Given the description of an element on the screen output the (x, y) to click on. 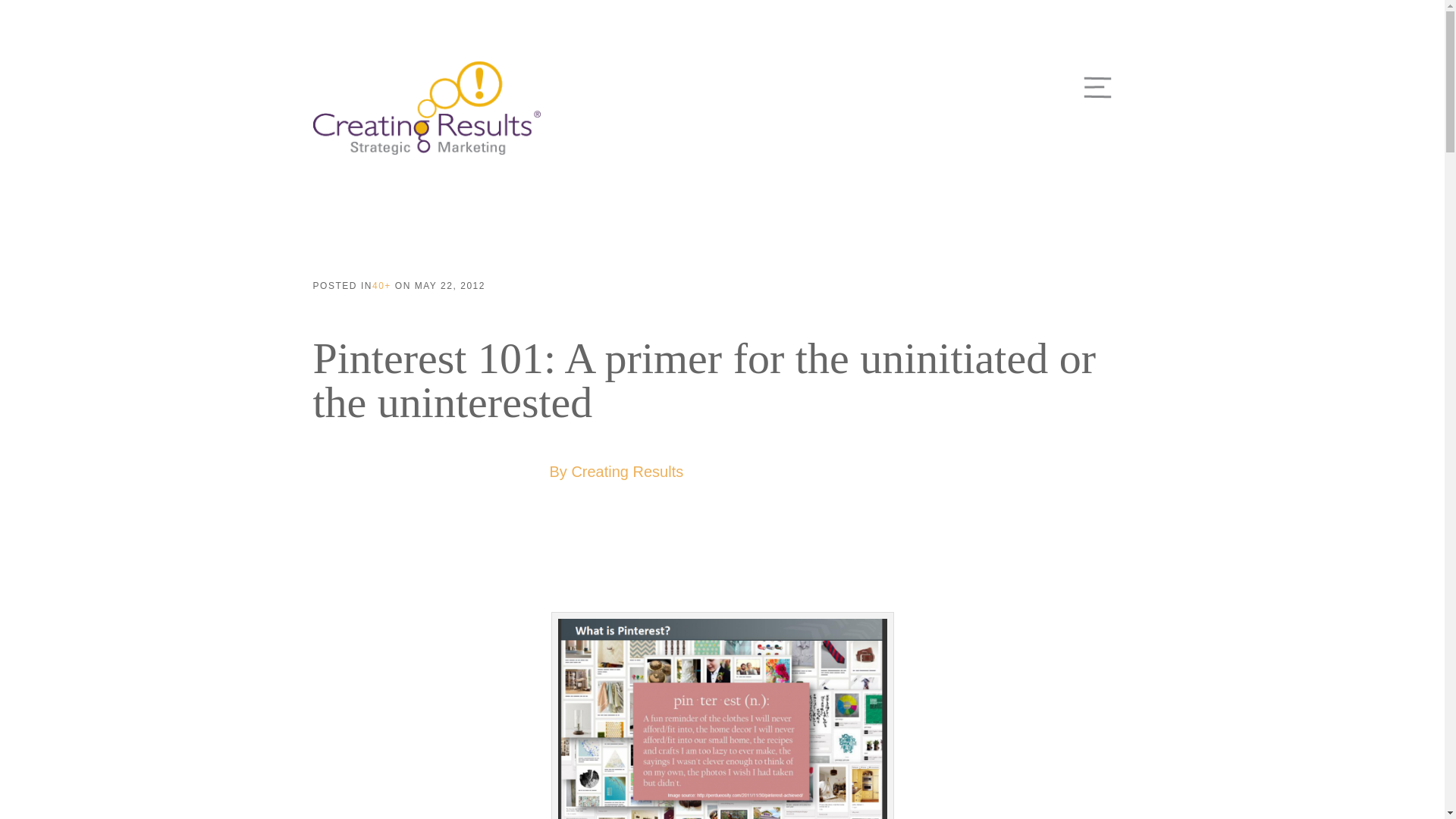
Creating Results Gold and White Logo (426, 107)
Pinterest-Definition-Snarky (721, 719)
By Creating Results (615, 471)
